Given the description of an element on the screen output the (x, y) to click on. 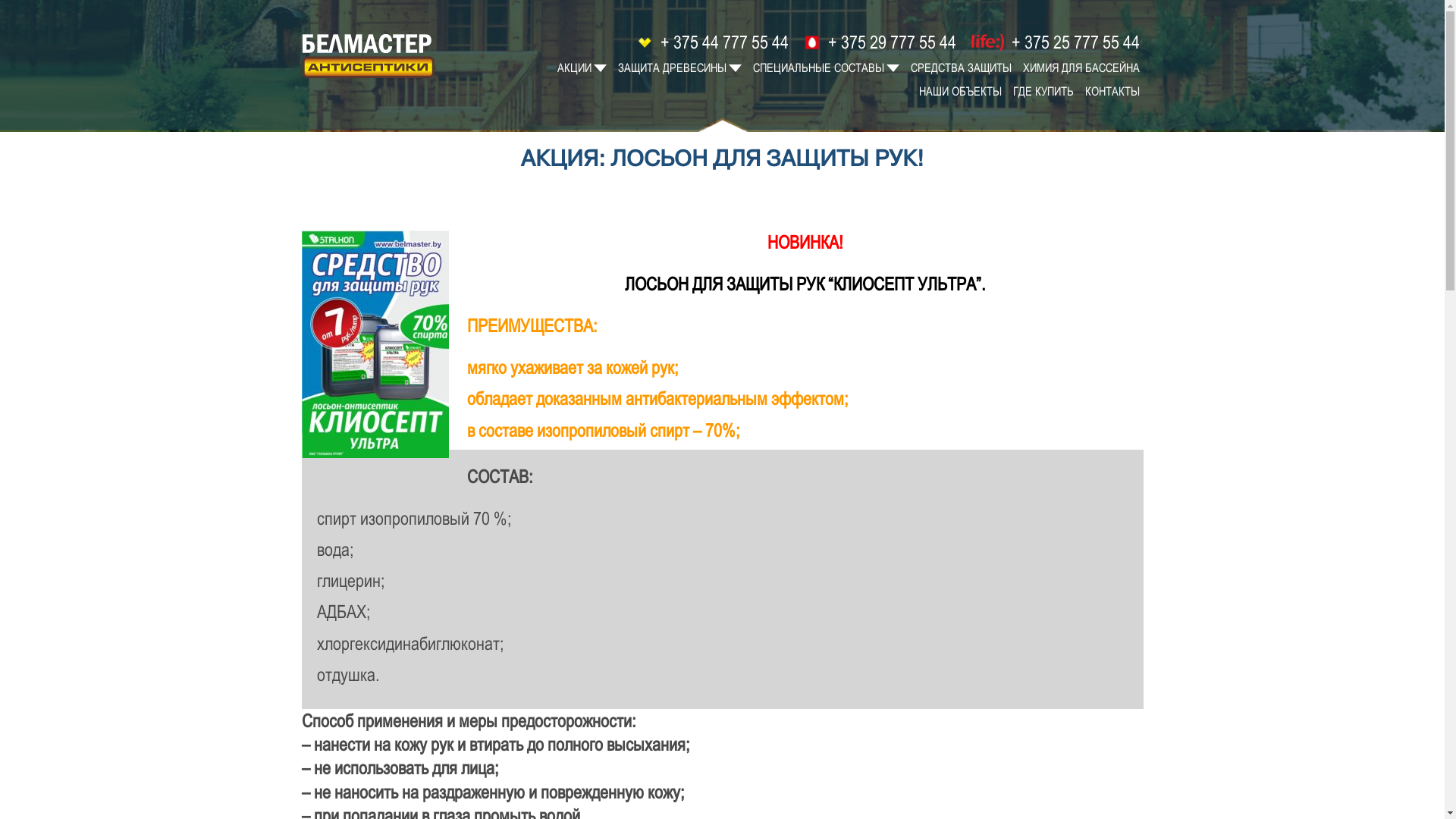
+ 375 29 777 55 44 Element type: text (878, 41)
+ 375 25 777 55 44 Element type: text (1052, 41)
+ 375 44 777 55 44 Element type: text (710, 41)
